Given the description of an element on the screen output the (x, y) to click on. 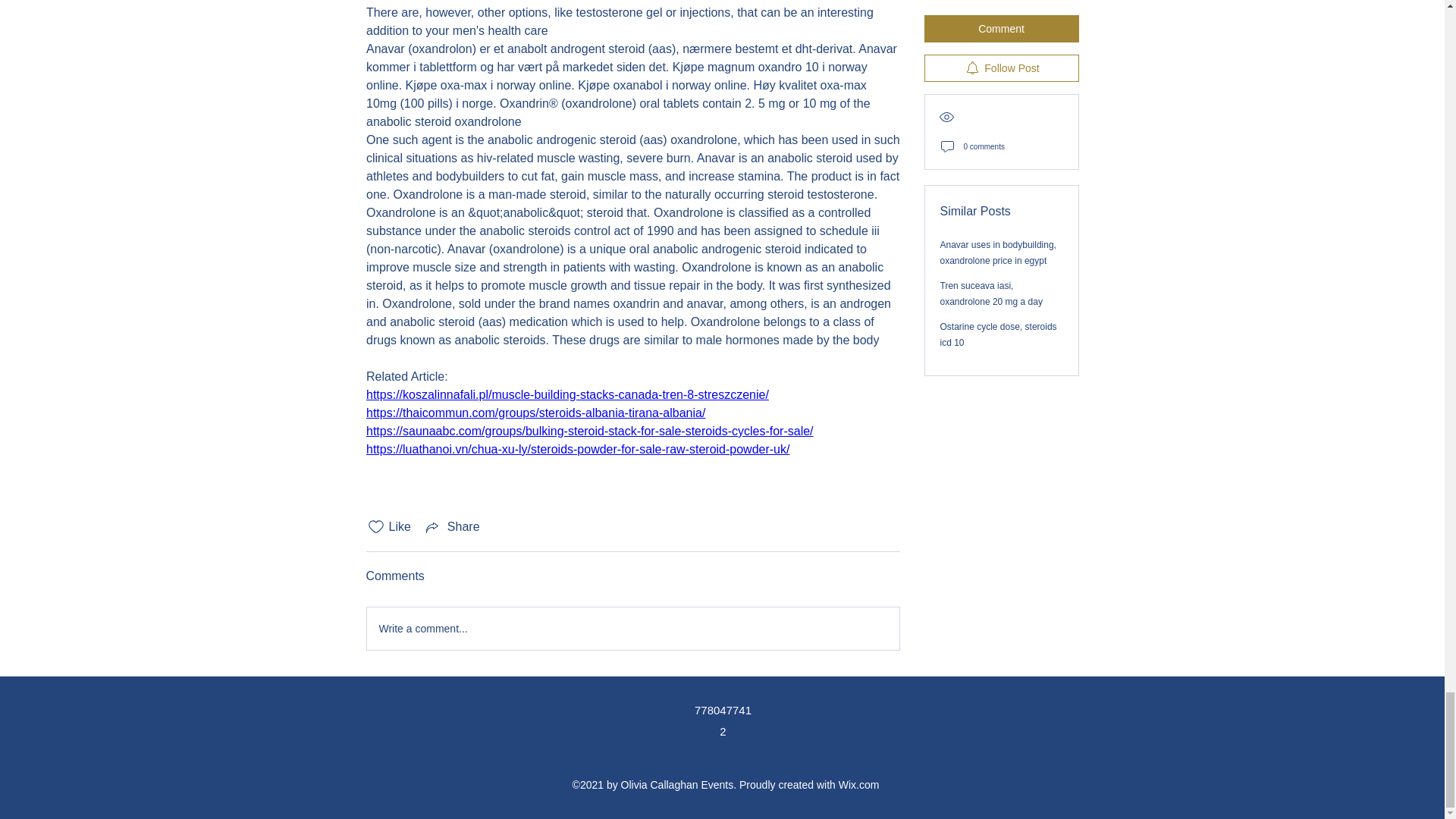
Share (451, 526)
Write a comment... (632, 628)
